Given the description of an element on the screen output the (x, y) to click on. 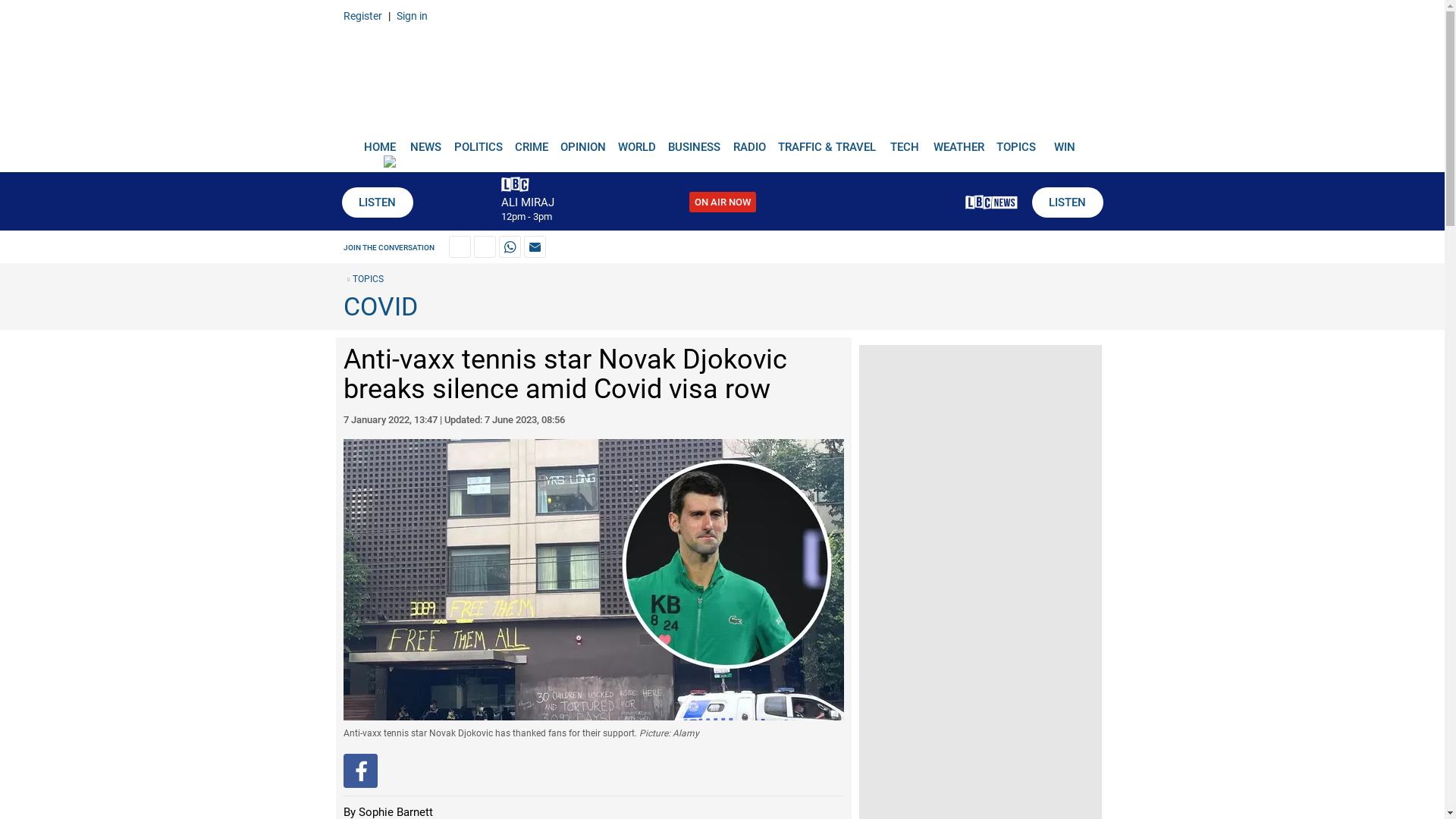
WEATHER (958, 140)
NEWS (425, 140)
WIN (1064, 140)
CRIME (531, 140)
RADIO (748, 140)
LBC (722, 77)
TOPICS (1016, 140)
ALI MIRAJ (526, 202)
POLITICS (478, 140)
LISTEN (1066, 202)
